Given the description of an element on the screen output the (x, y) to click on. 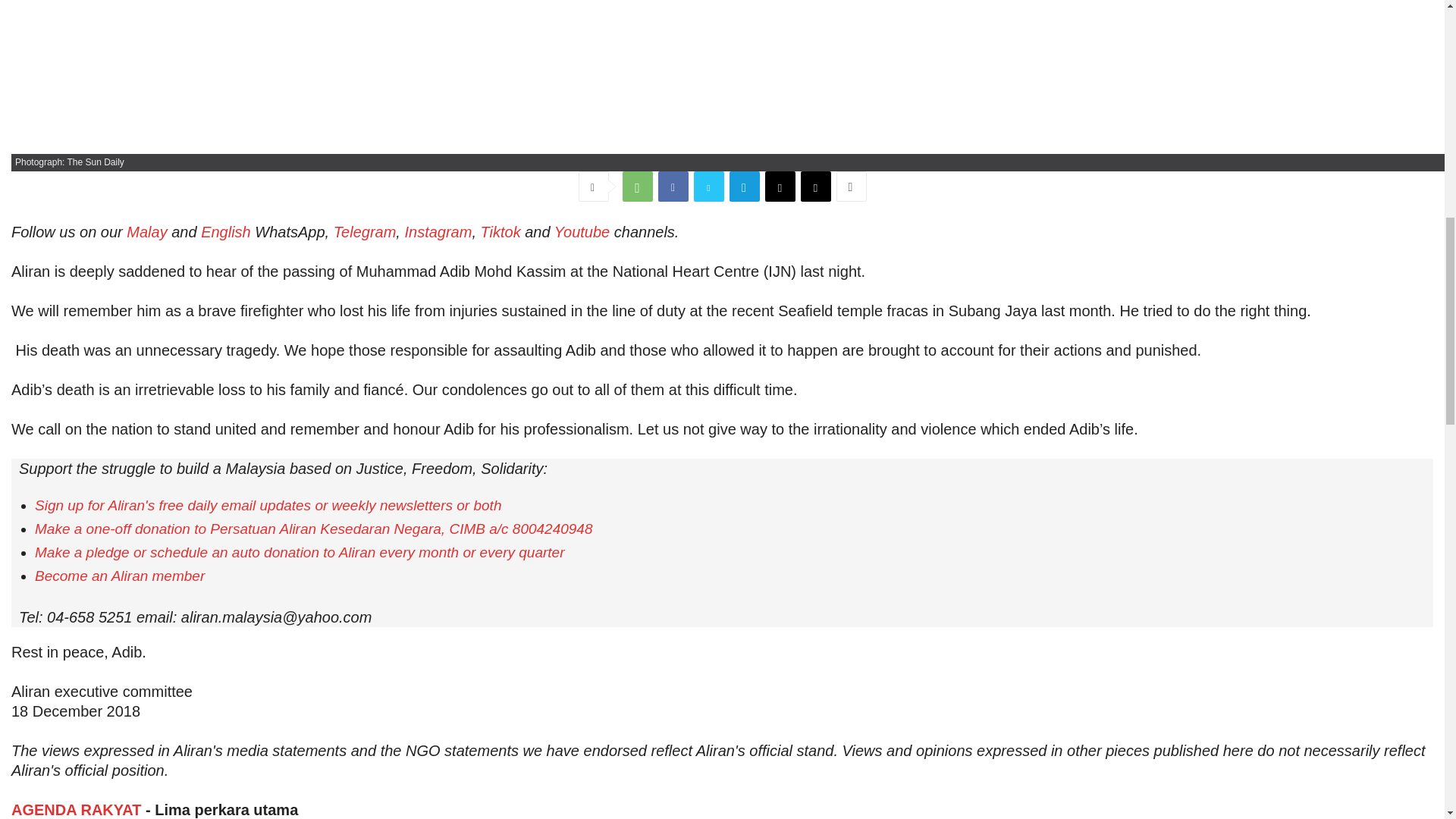
Telegram (744, 186)
Telegram (364, 231)
WhatsApp (636, 186)
Facebook (673, 186)
Malay (146, 231)
Twitter (708, 186)
English (225, 231)
